Given the description of an element on the screen output the (x, y) to click on. 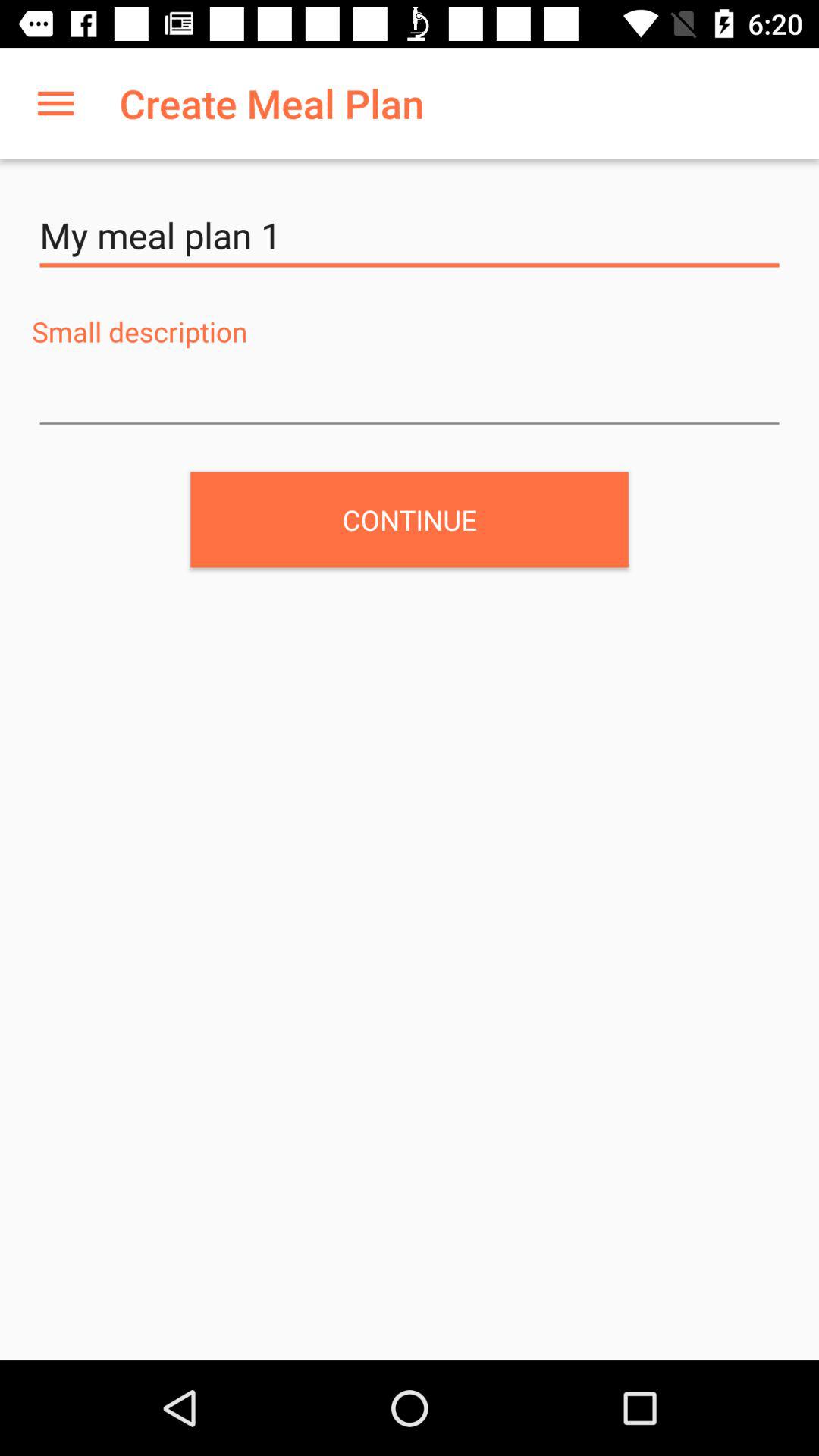
add description (409, 395)
